Given the description of an element on the screen output the (x, y) to click on. 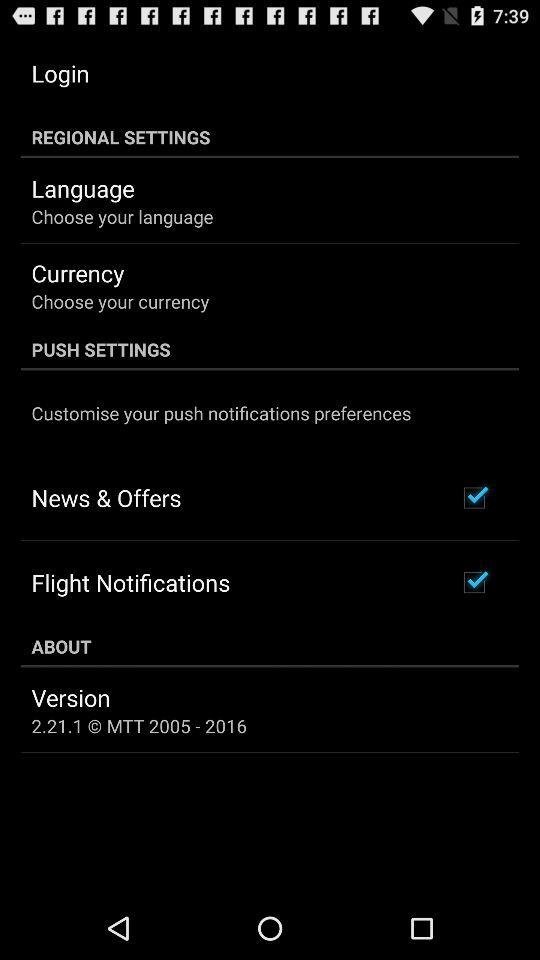
press the item above language app (270, 137)
